Given the description of an element on the screen output the (x, y) to click on. 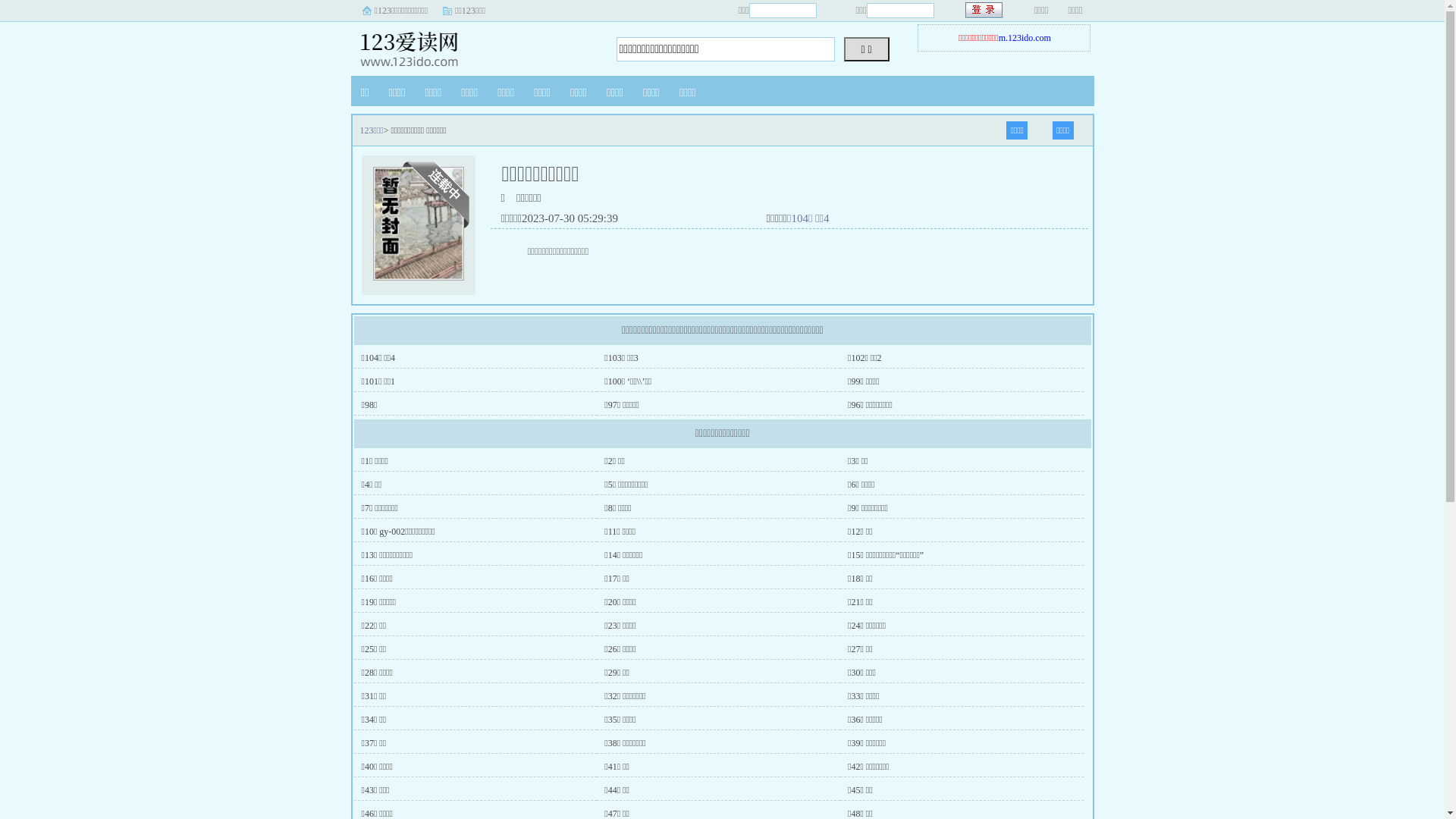
m.123ido.com Element type: text (1024, 37)
  Element type: text (983, 10)
